Given the description of an element on the screen output the (x, y) to click on. 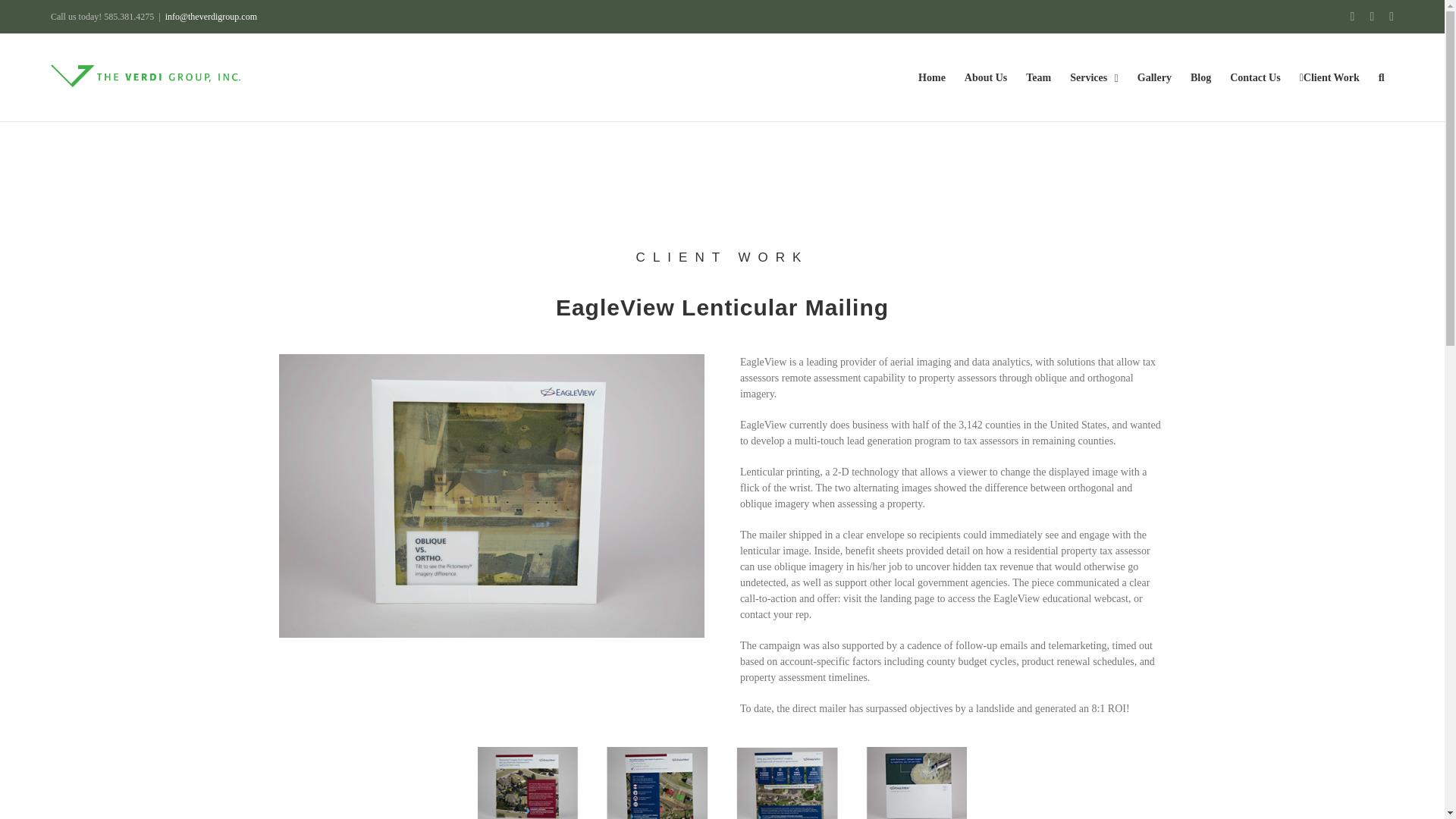
Toggle Sliding Bar (1329, 77)
eagleviewsmall-03 (722, 782)
